Given the description of an element on the screen output the (x, y) to click on. 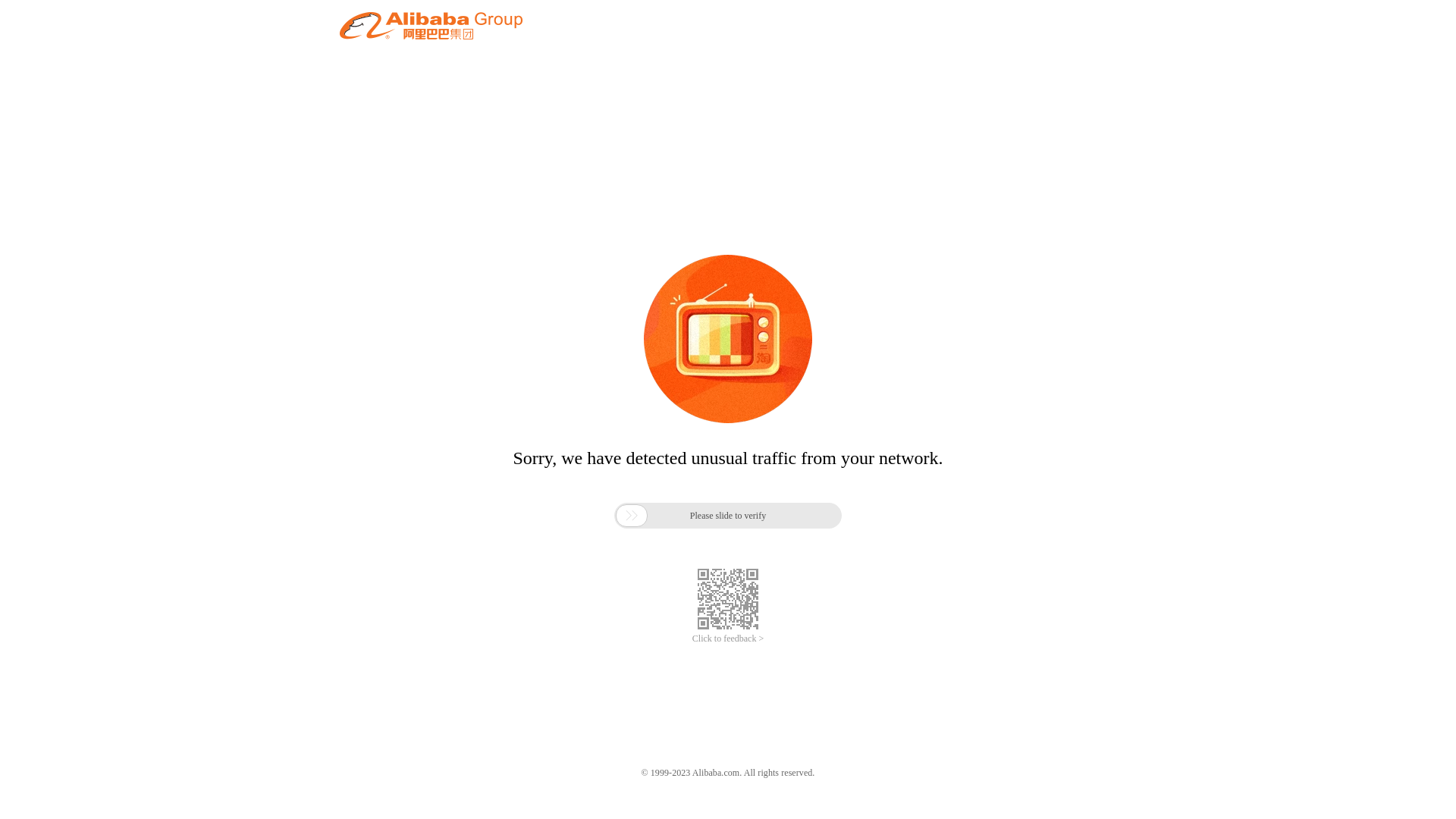
Click to feedback > Element type: text (727, 638)
